Given the description of an element on the screen output the (x, y) to click on. 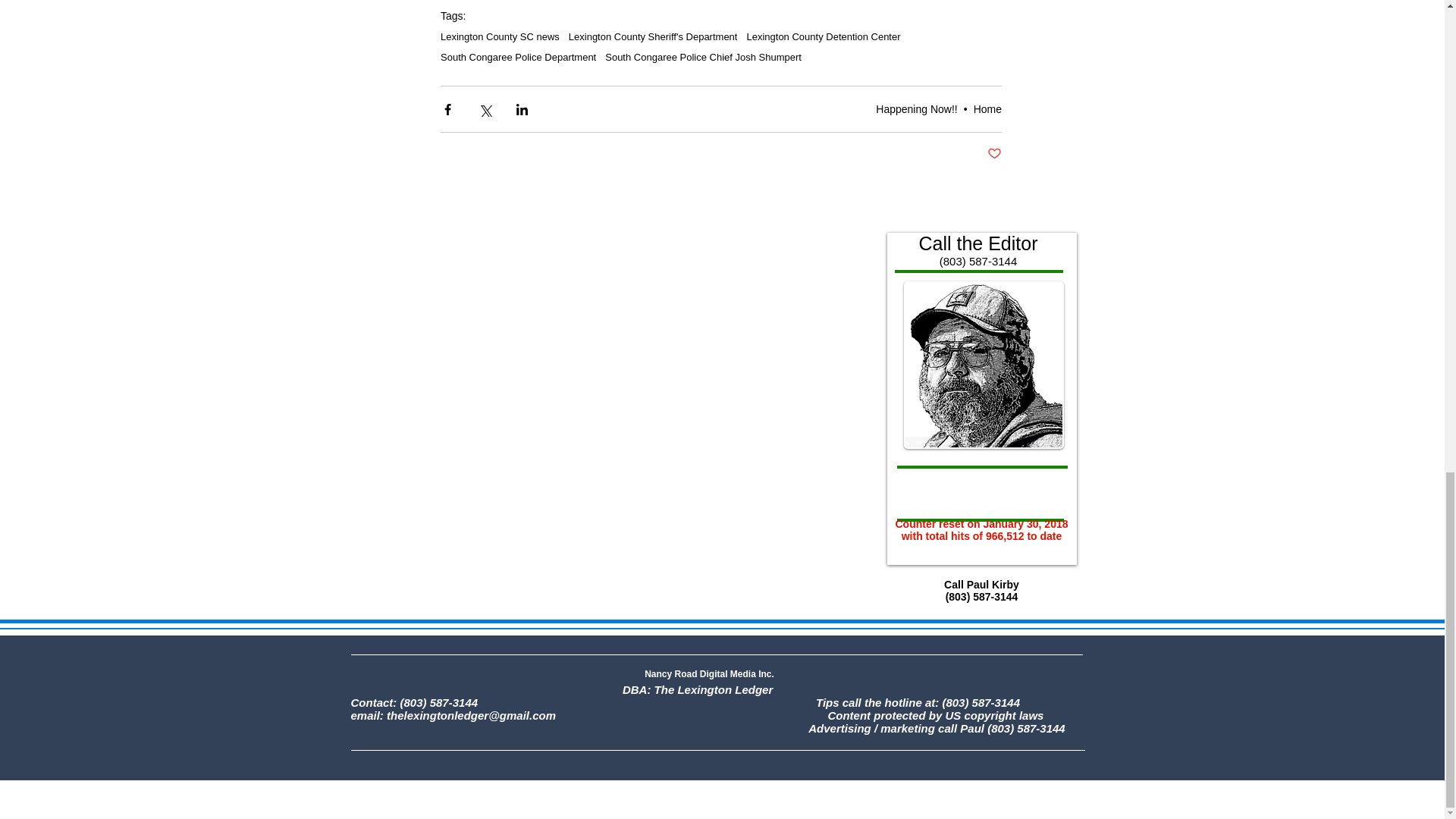
Post not marked as liked (994, 154)
South Congaree Police Department (518, 57)
Lexington County SC news (500, 36)
South Congaree Police Chief Josh Shumpert (703, 57)
Lexington County Detention Center (822, 36)
Home (987, 109)
Lexington County Sheriff's Department (653, 36)
Happening Now!! (916, 109)
